Given the description of an element on the screen output the (x, y) to click on. 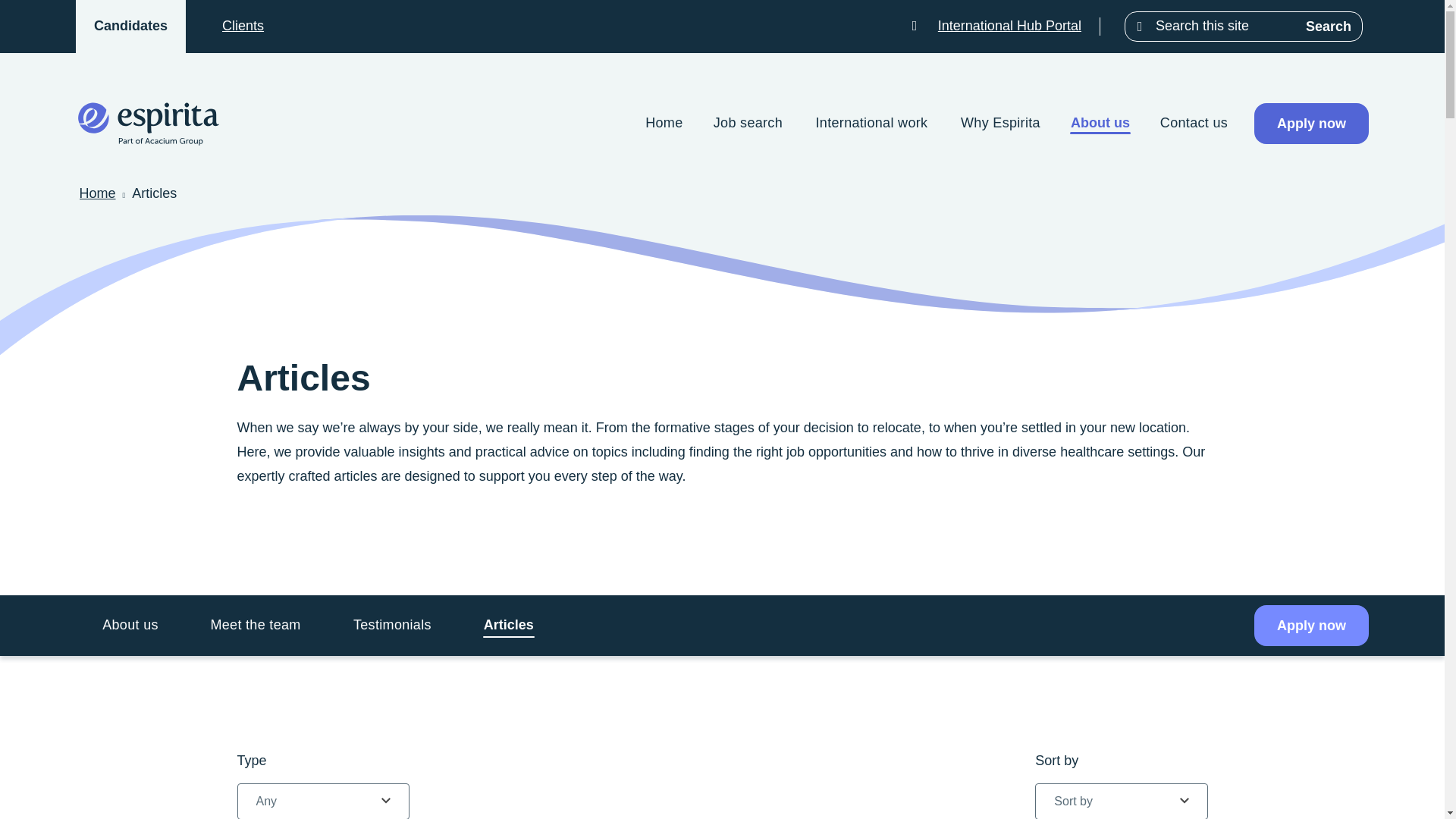
Search (1328, 26)
Candidates (130, 26)
Why Espirita (1000, 123)
Articles (508, 625)
Apply now (1310, 123)
Meet the team (255, 625)
Submit (1140, 26)
About us (130, 625)
Search for: (1225, 26)
Testimonials (391, 625)
